Given the description of an element on the screen output the (x, y) to click on. 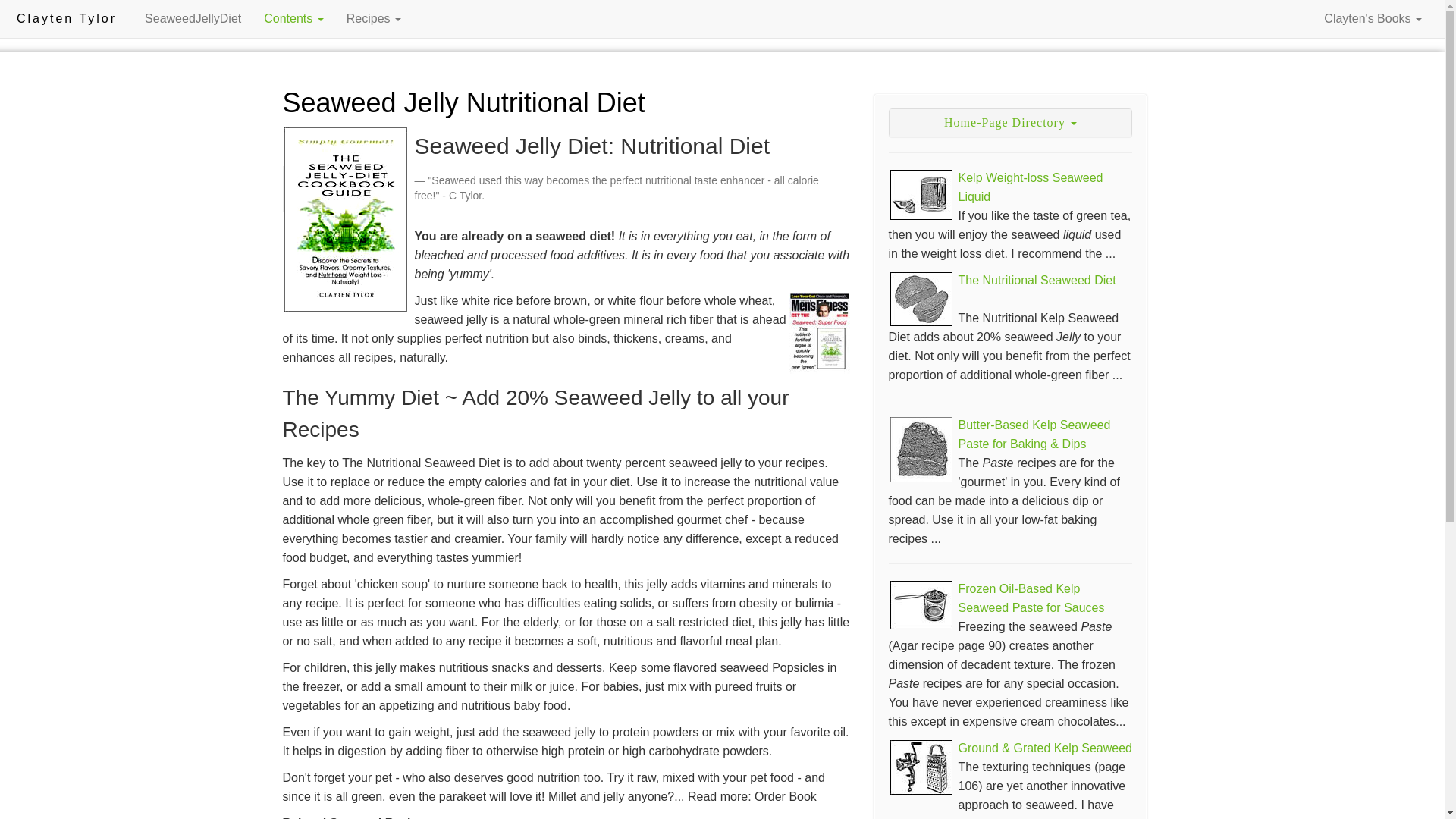
Contents (292, 18)
SeaweedJellyDiet (192, 18)
Clayten Tylor (66, 18)
Recipes (373, 18)
Clayten's Books (1372, 18)
